Given the description of an element on the screen output the (x, y) to click on. 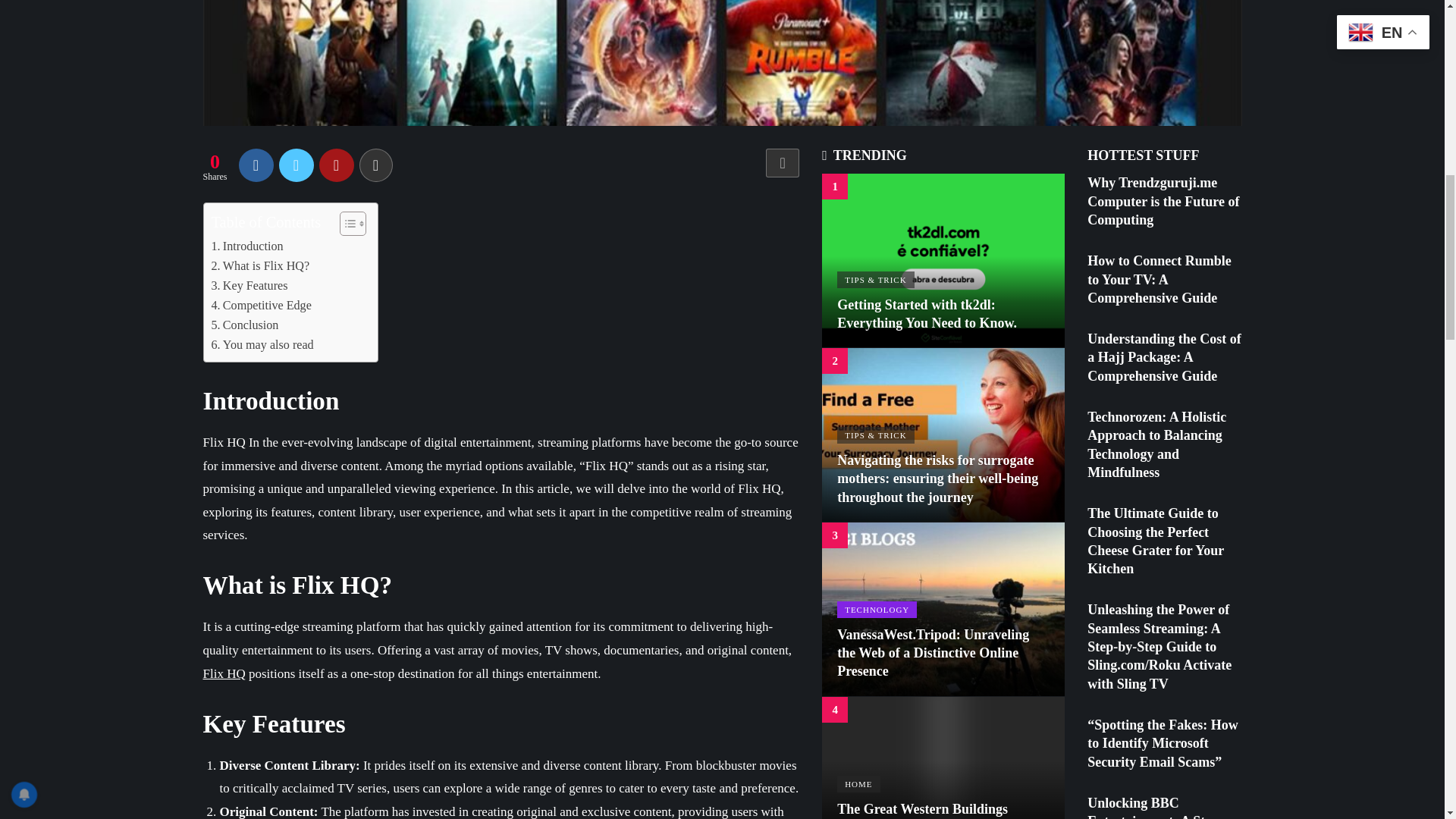
Conclusion (244, 324)
Getting Started with tk2dl: Everything You Need to Know. (943, 260)
Key Features (248, 285)
Competitive Edge (261, 305)
You may also read (262, 344)
Add Bookmark (782, 162)
What is Flix HQ? (259, 266)
Introduction (246, 246)
